Given the description of an element on the screen output the (x, y) to click on. 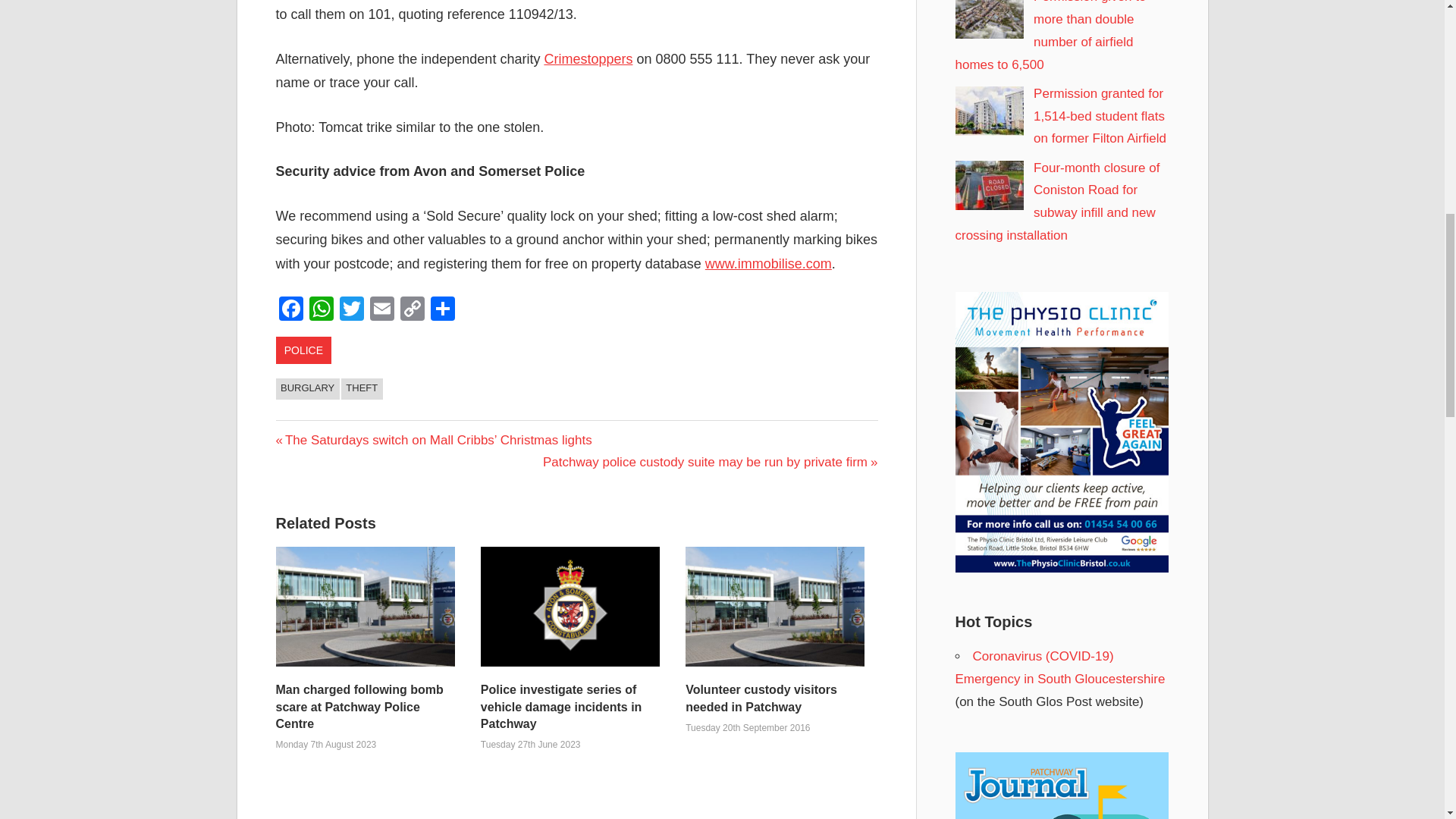
Facebook (290, 310)
Email (381, 310)
11:08am (326, 744)
Copy Link (412, 310)
WhatsApp (320, 310)
9:27pm (747, 727)
4:01pm (530, 744)
Twitter (351, 310)
